Given the description of an element on the screen output the (x, y) to click on. 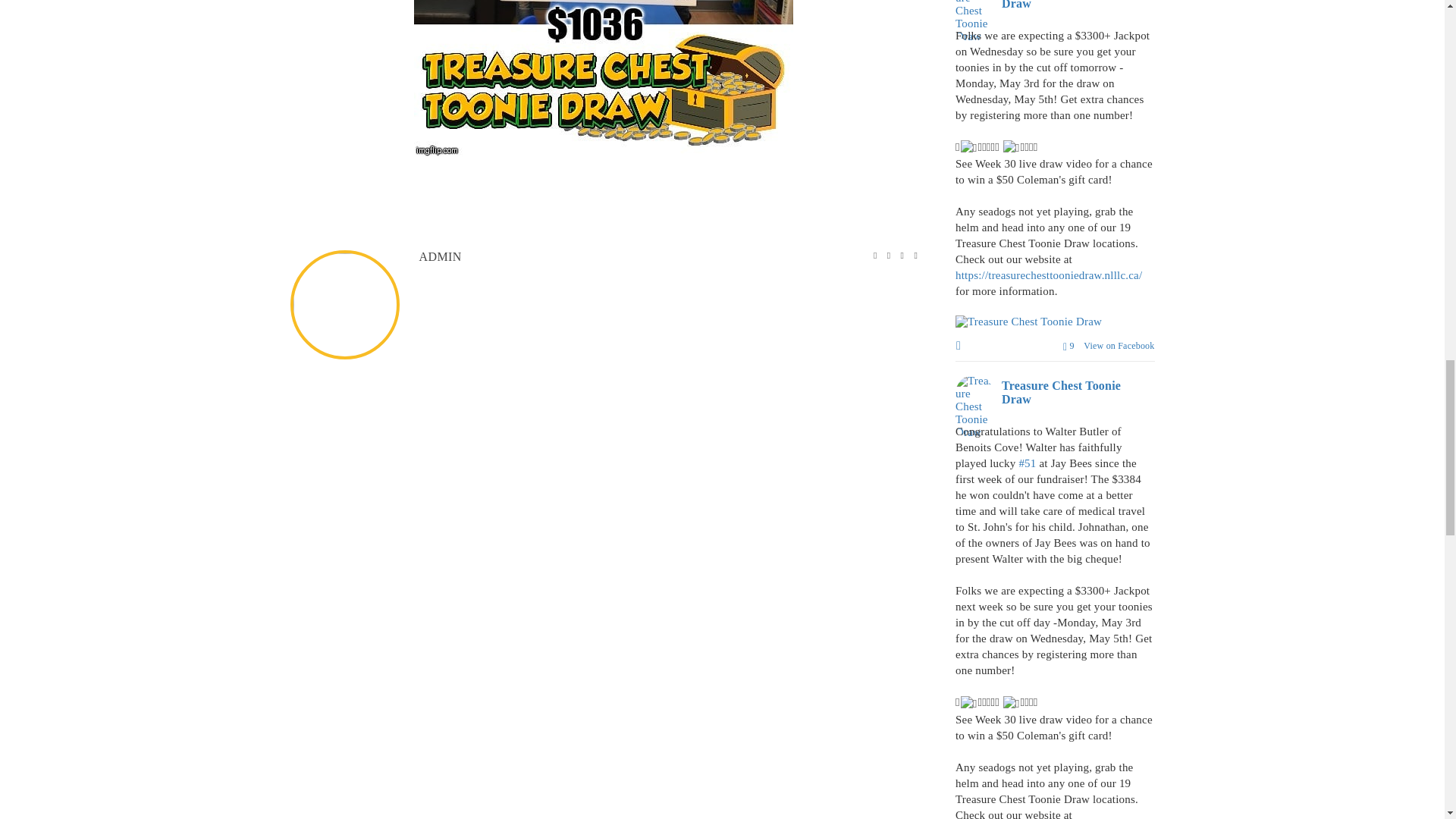
ADMIN (440, 256)
Posts by admin (440, 256)
Social Share Options (960, 346)
